Given the description of an element on the screen output the (x, y) to click on. 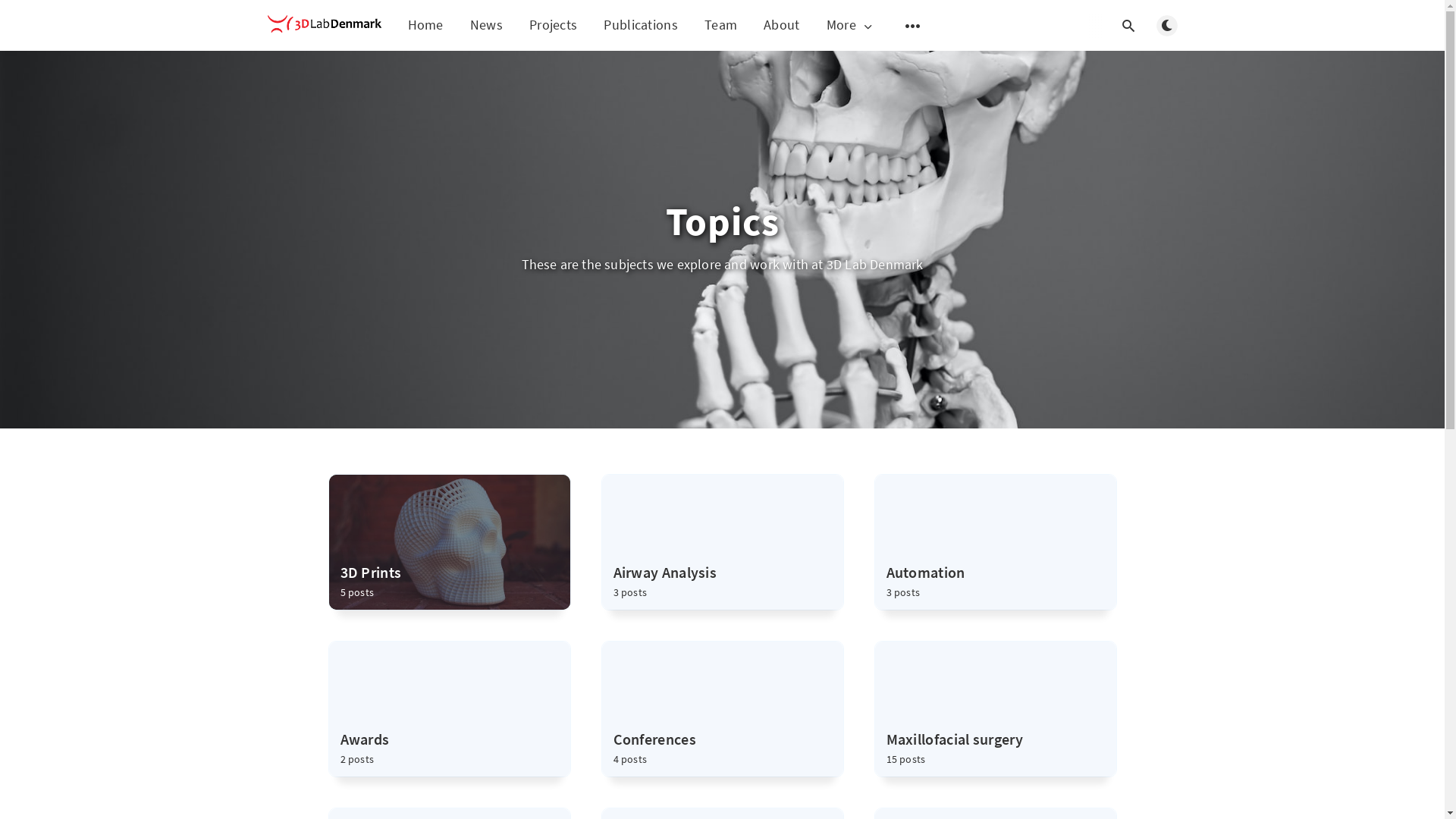
Awards
2 posts Element type: text (449, 708)
Maxillofacial surgery
15 posts Element type: text (995, 708)
Team Element type: text (720, 24)
More Element type: text (850, 25)
Airway Analysis
3 posts Element type: text (722, 541)
Home Element type: text (425, 24)
Conferences
4 posts Element type: text (722, 708)
Publications Element type: text (640, 24)
3D Prints
5 posts Element type: text (449, 541)
About Element type: text (781, 24)
Automation
3 posts Element type: text (995, 541)
News Element type: text (486, 24)
Projects Element type: text (553, 24)
